Given the description of an element on the screen output the (x, y) to click on. 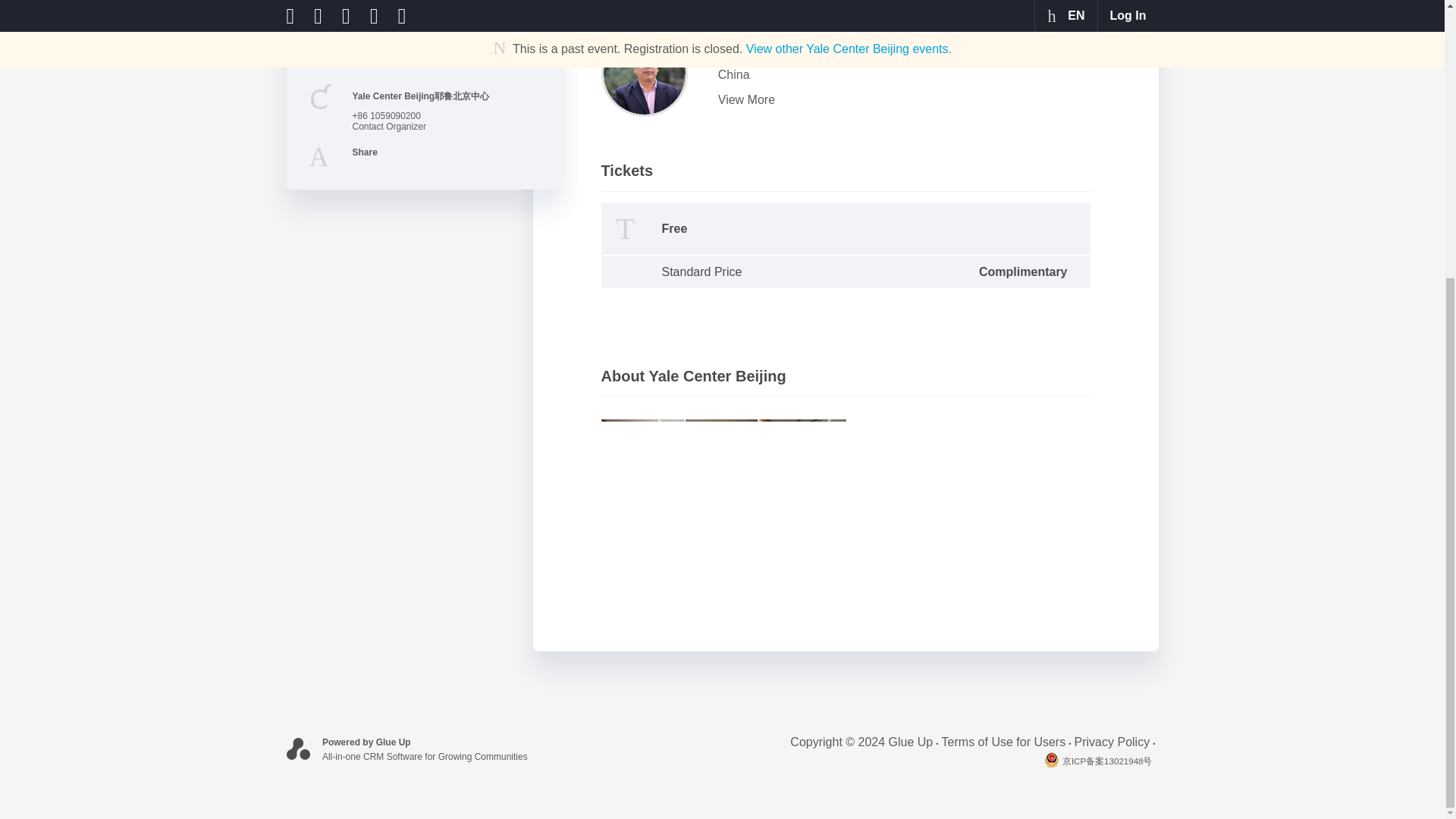
Terms of Use for Users (1008, 741)
Privacy Policy (1116, 741)
View More (900, 100)
Contact Organizer (388, 126)
